Given the description of an element on the screen output the (x, y) to click on. 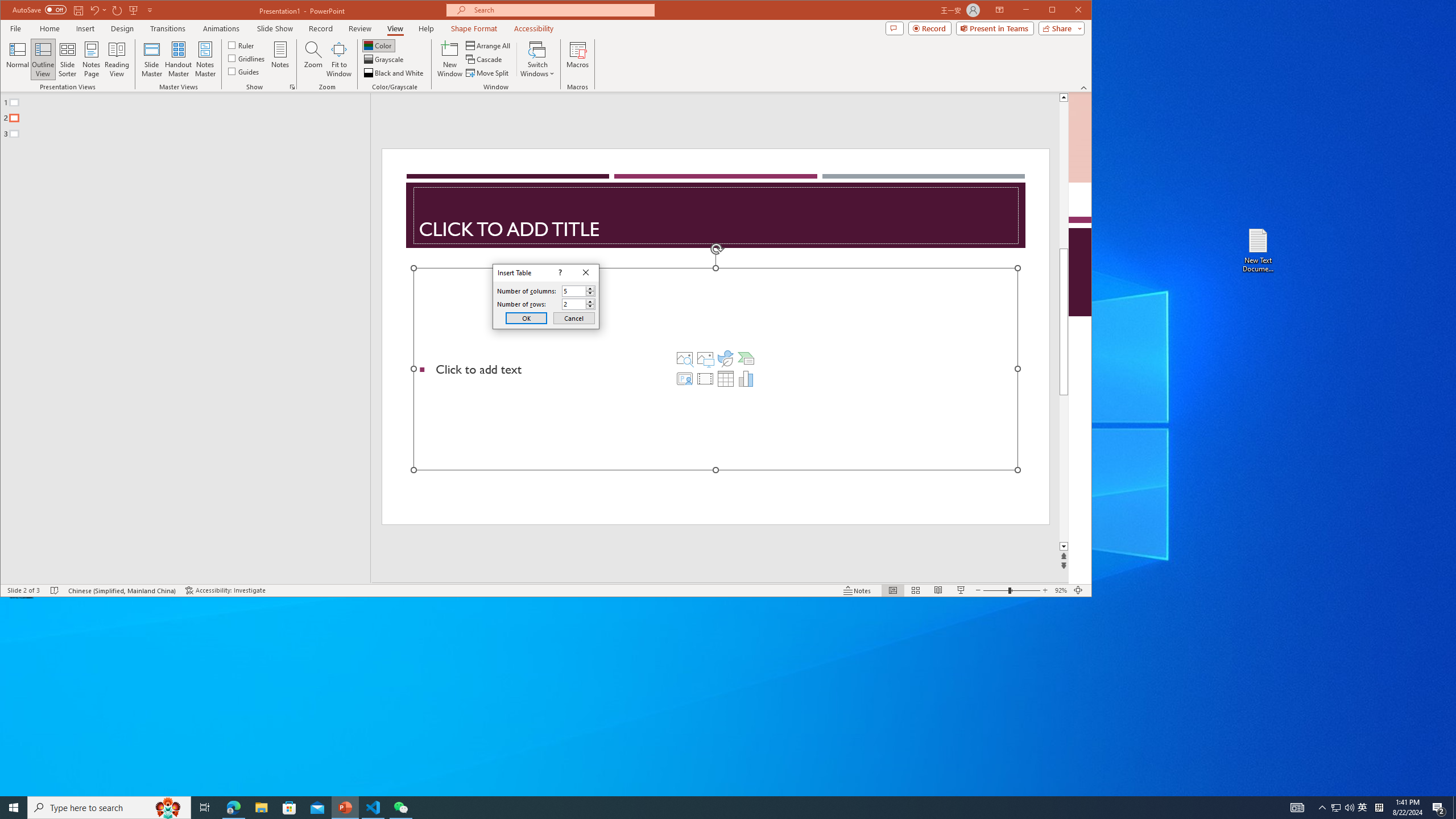
Context help (559, 272)
Arrange All (488, 45)
Zoom 92% (1060, 590)
Cancel (574, 318)
Microsoft Edge - 1 running window (233, 807)
Notes (279, 59)
Insert Chart (745, 378)
